Given the description of an element on the screen output the (x, y) to click on. 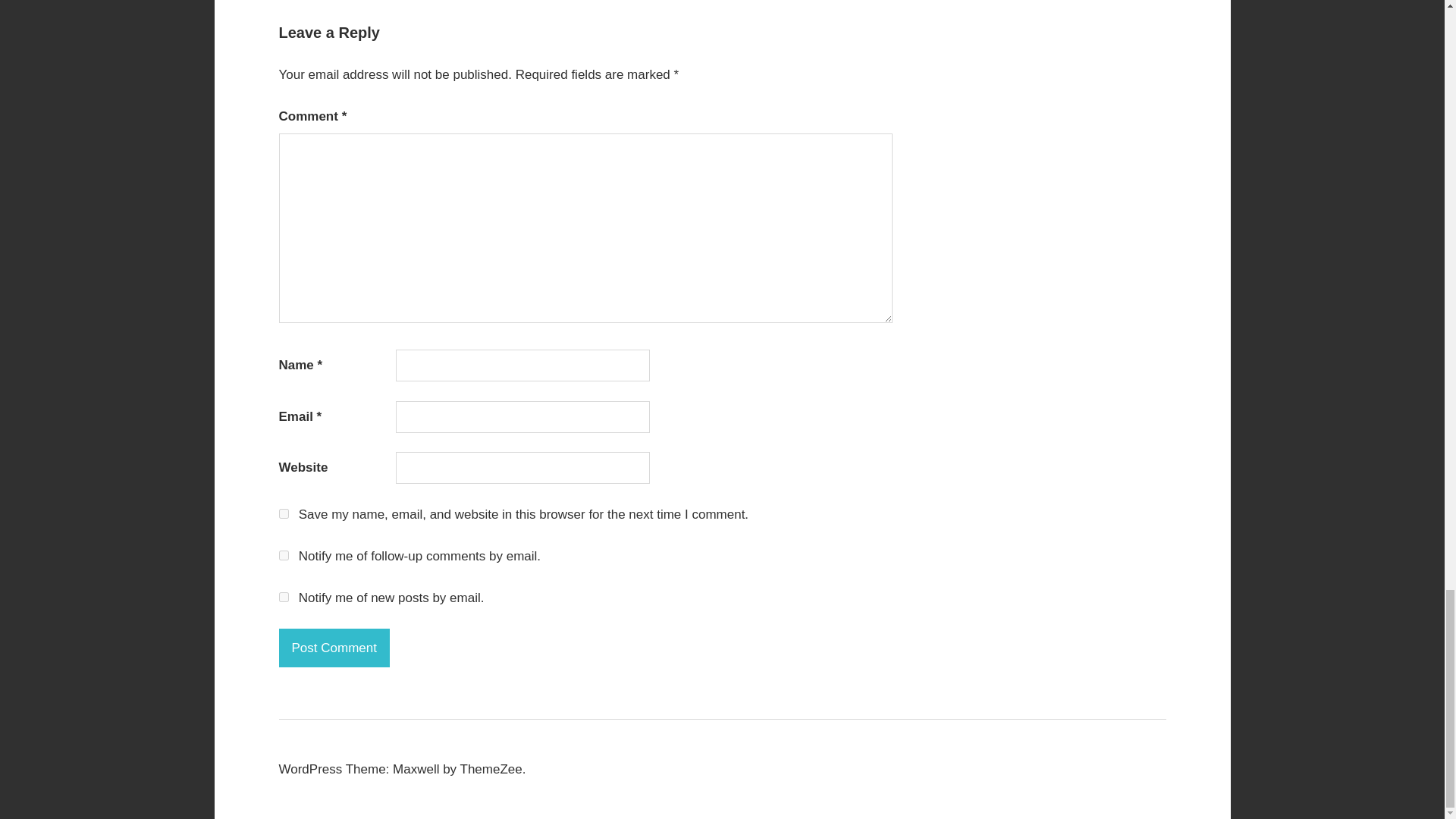
yes (283, 513)
subscribe (283, 555)
Post Comment (334, 647)
Post Comment (334, 647)
subscribe (283, 596)
